Given the description of an element on the screen output the (x, y) to click on. 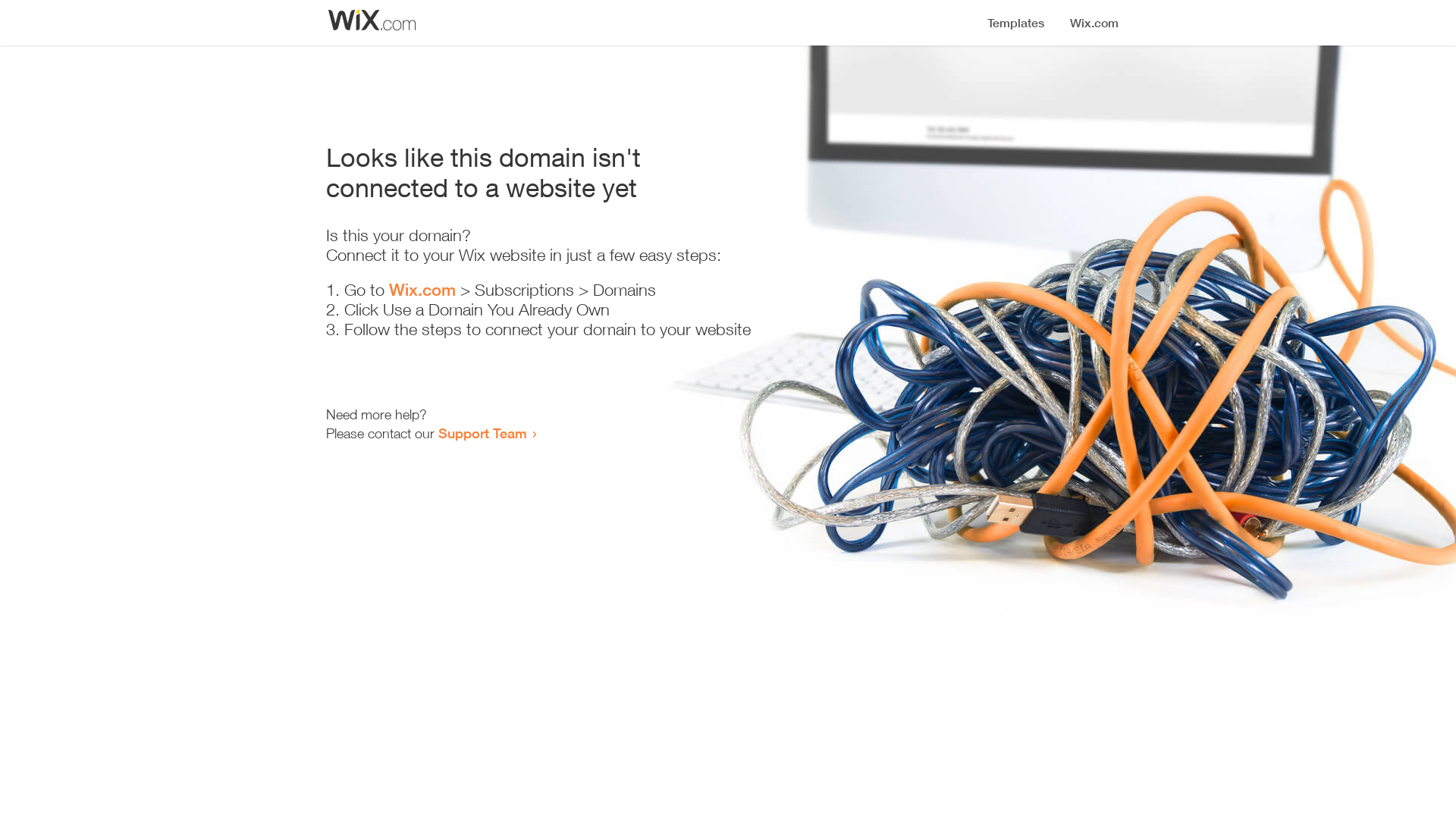
Support Team Element type: text (482, 432)
Wix.com Element type: text (422, 289)
